Given the description of an element on the screen output the (x, y) to click on. 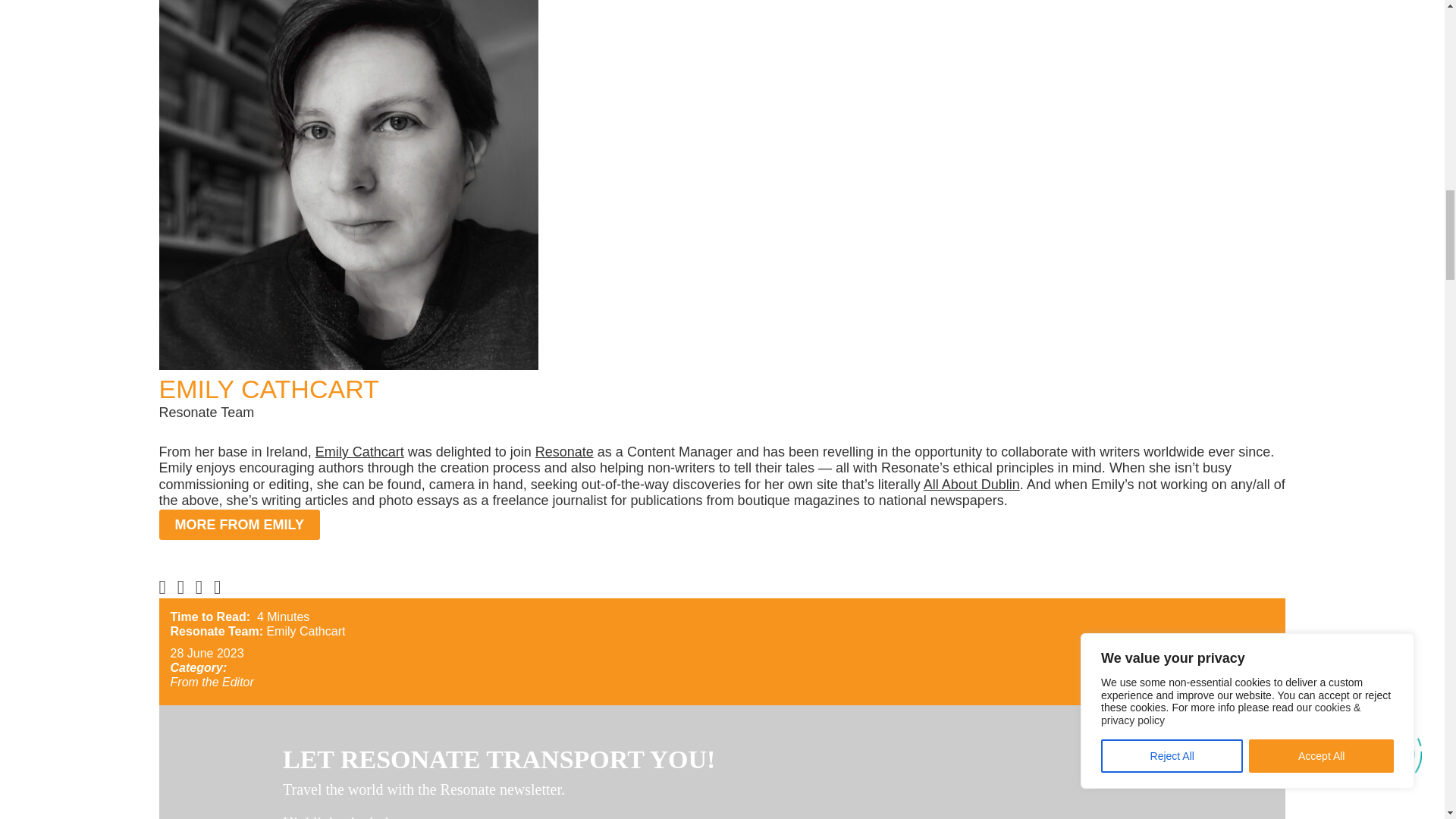
Emily Cathcart (359, 451)
Resonate (564, 451)
All About Dublin (971, 484)
